Given the description of an element on the screen output the (x, y) to click on. 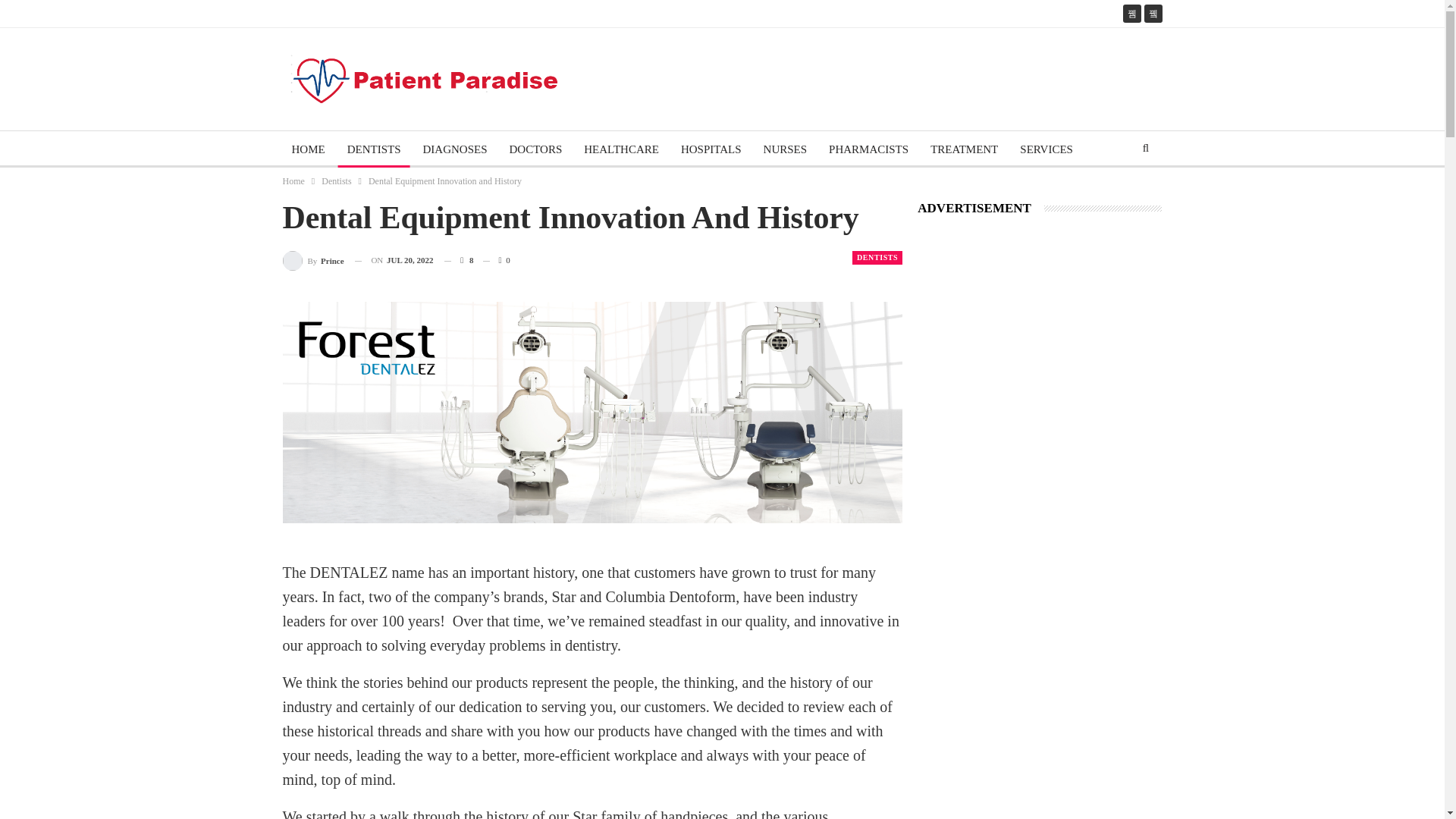
DOCTORS (536, 149)
HEALTHCARE (621, 149)
NURSES (785, 149)
HOME (307, 149)
Dentists (335, 180)
HOSPITALS (711, 149)
SERVICES (1045, 149)
Browse Author Articles (312, 260)
0 (495, 260)
PHARMACISTS (868, 149)
